Given the description of an element on the screen output the (x, y) to click on. 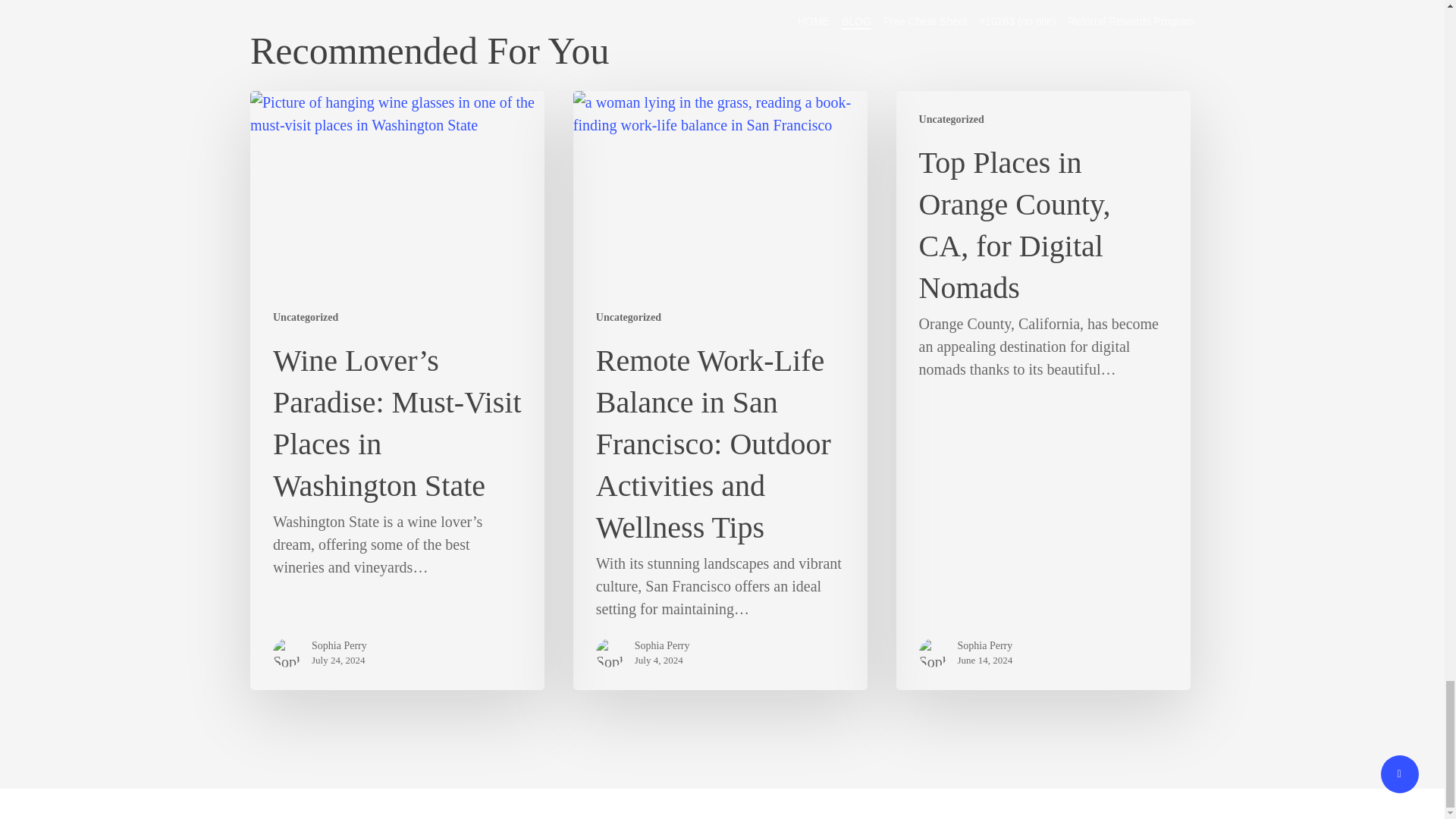
Uncategorized (951, 119)
Sophia Perry (662, 645)
Sophia Perry (338, 645)
Sophia Perry (985, 645)
Uncategorized (305, 317)
Uncategorized (628, 317)
